Given the description of an element on the screen output the (x, y) to click on. 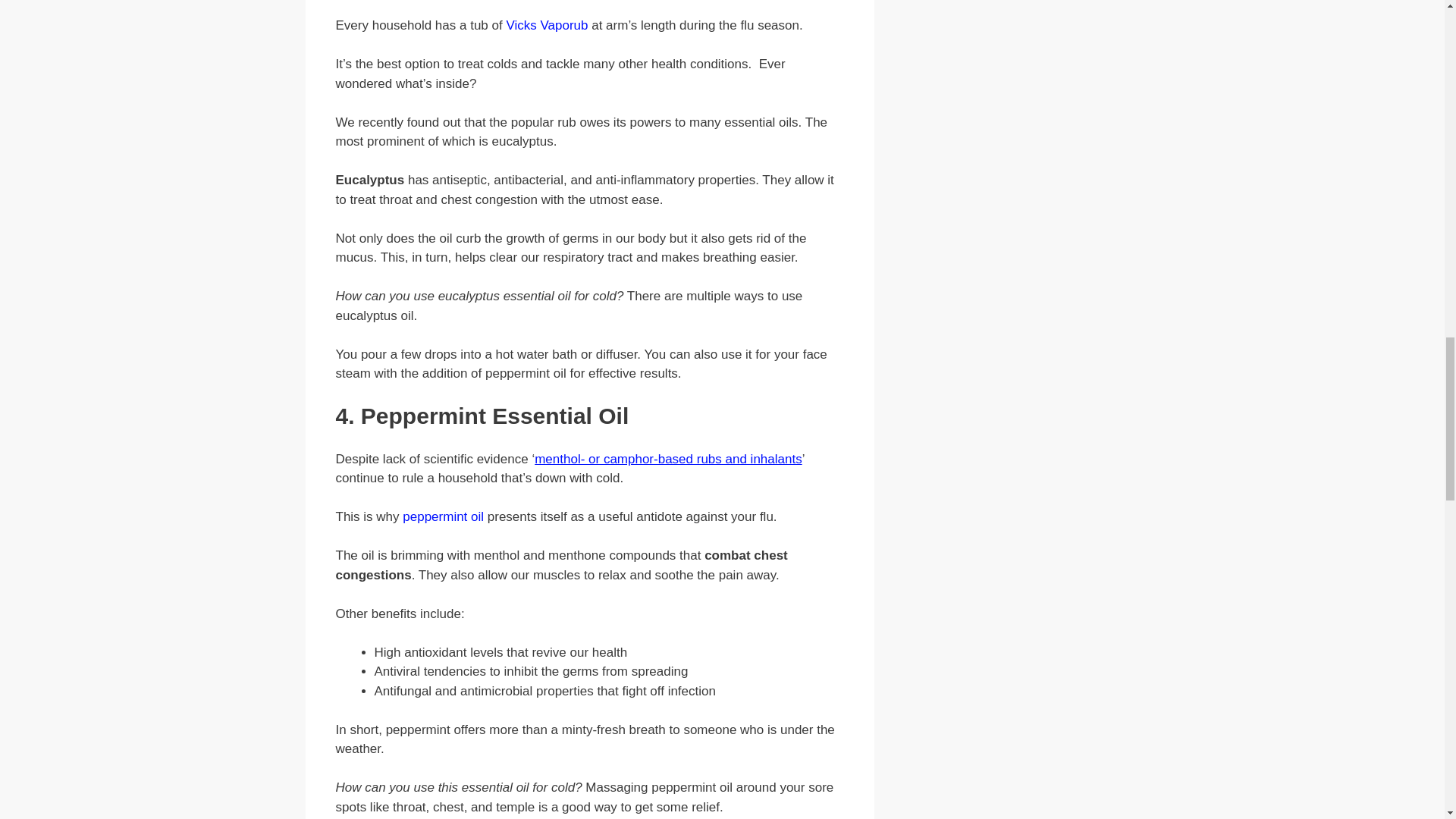
peppermint oil (443, 516)
menthol- or camphor-based rubs and inhalants (668, 459)
Vicks Vaporub (546, 25)
5 Fantastic Home Remedies For Coughing (443, 516)
7 Amazing Health Benefits Of Vicks VapoRub (546, 25)
